Given the description of an element on the screen output the (x, y) to click on. 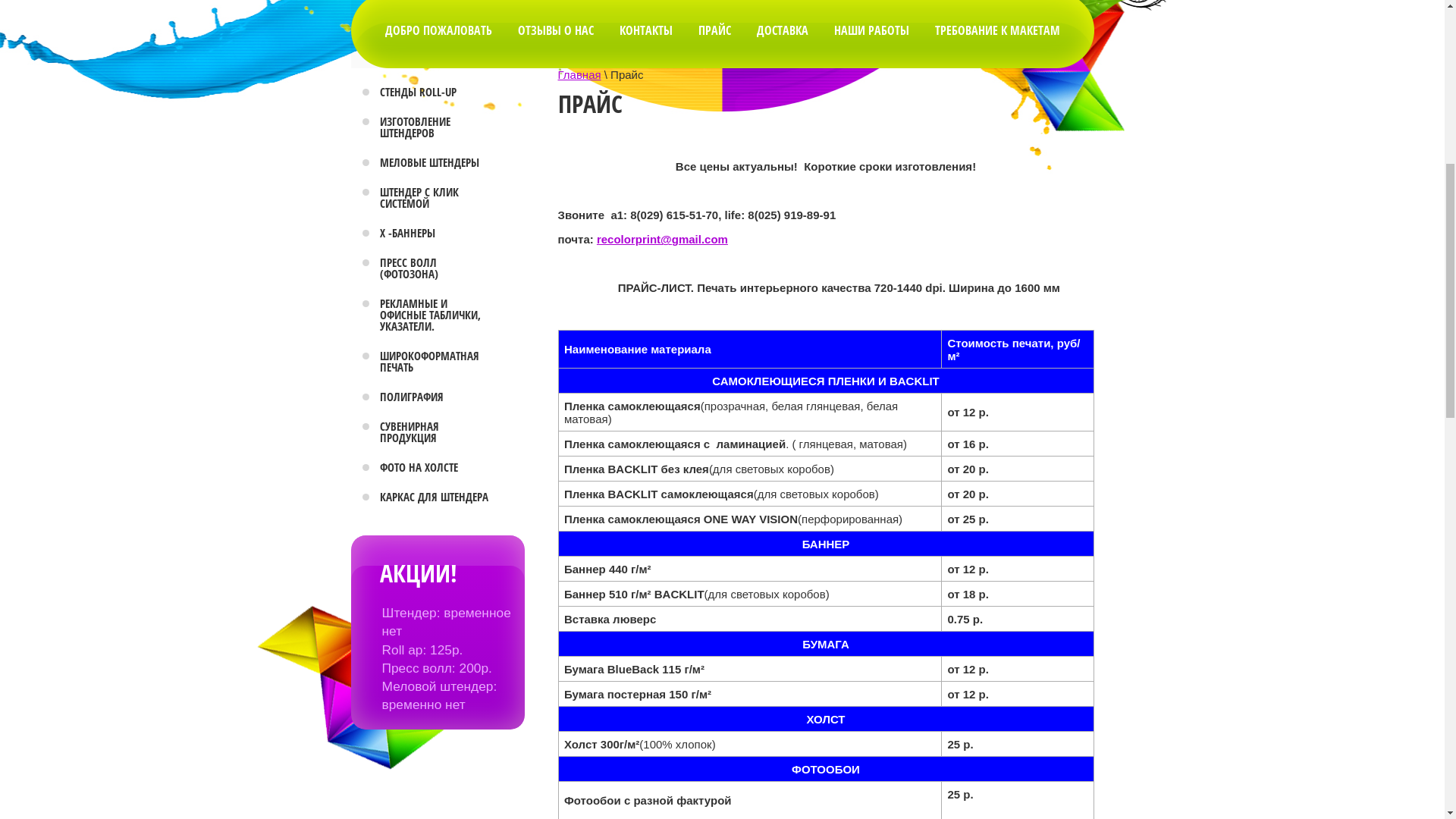
recolorprint@gmail.com Element type: text (662, 731)
